Given the description of an element on the screen output the (x, y) to click on. 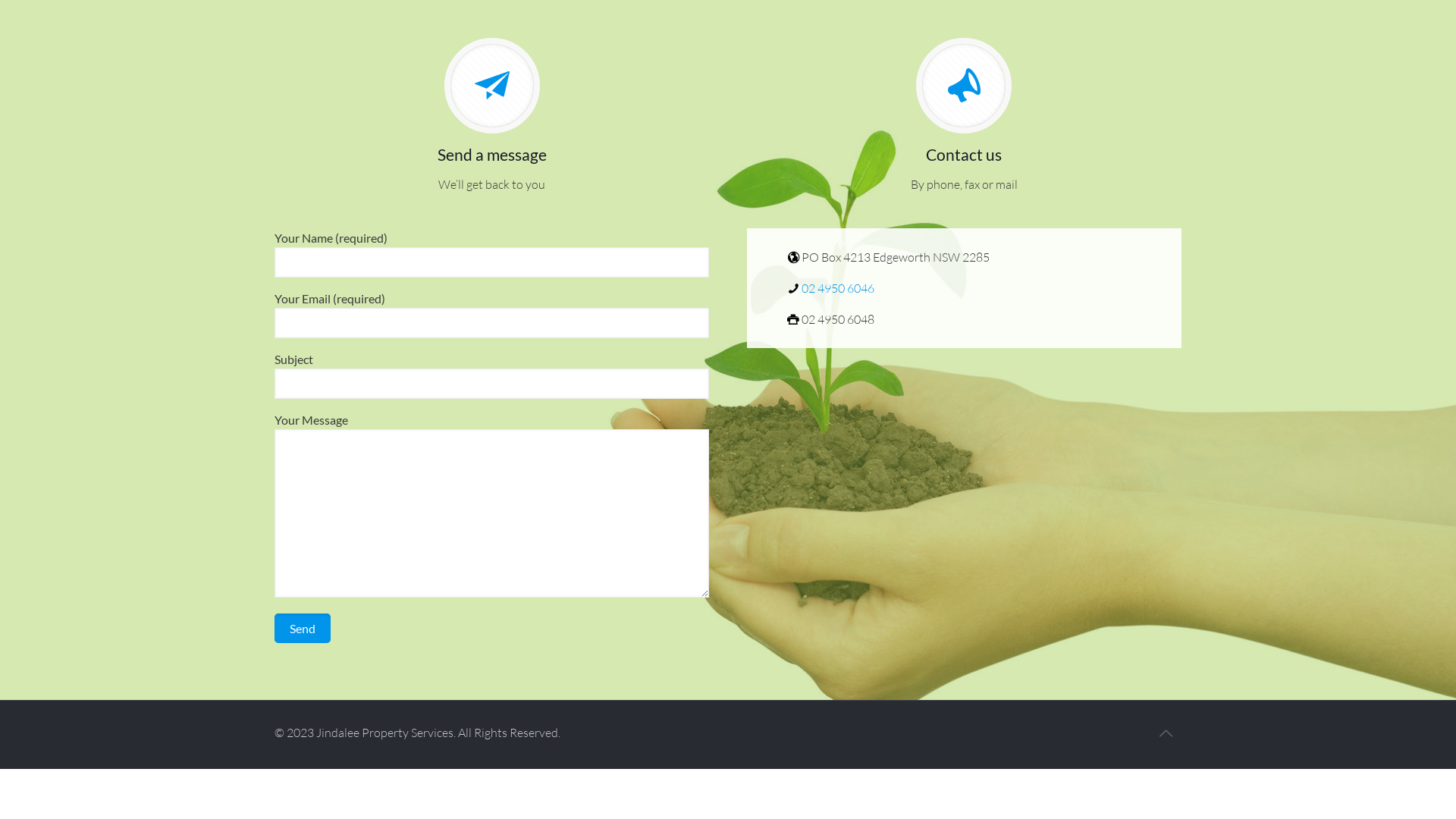
02 4950 6046 Element type: text (829, 287)
Send Element type: text (302, 628)
